Given the description of an element on the screen output the (x, y) to click on. 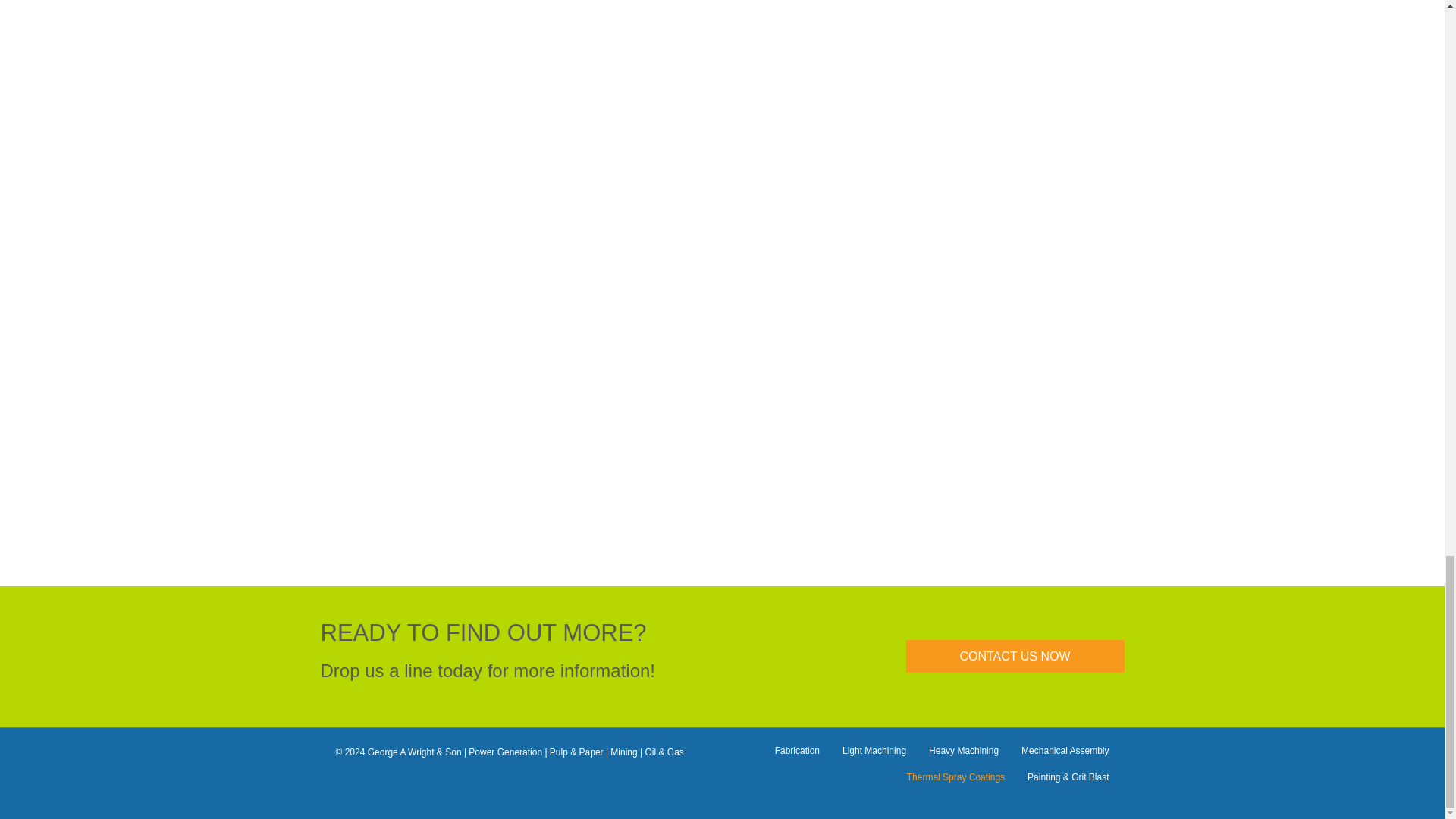
CONTACT US NOW (1014, 655)
